Given the description of an element on the screen output the (x, y) to click on. 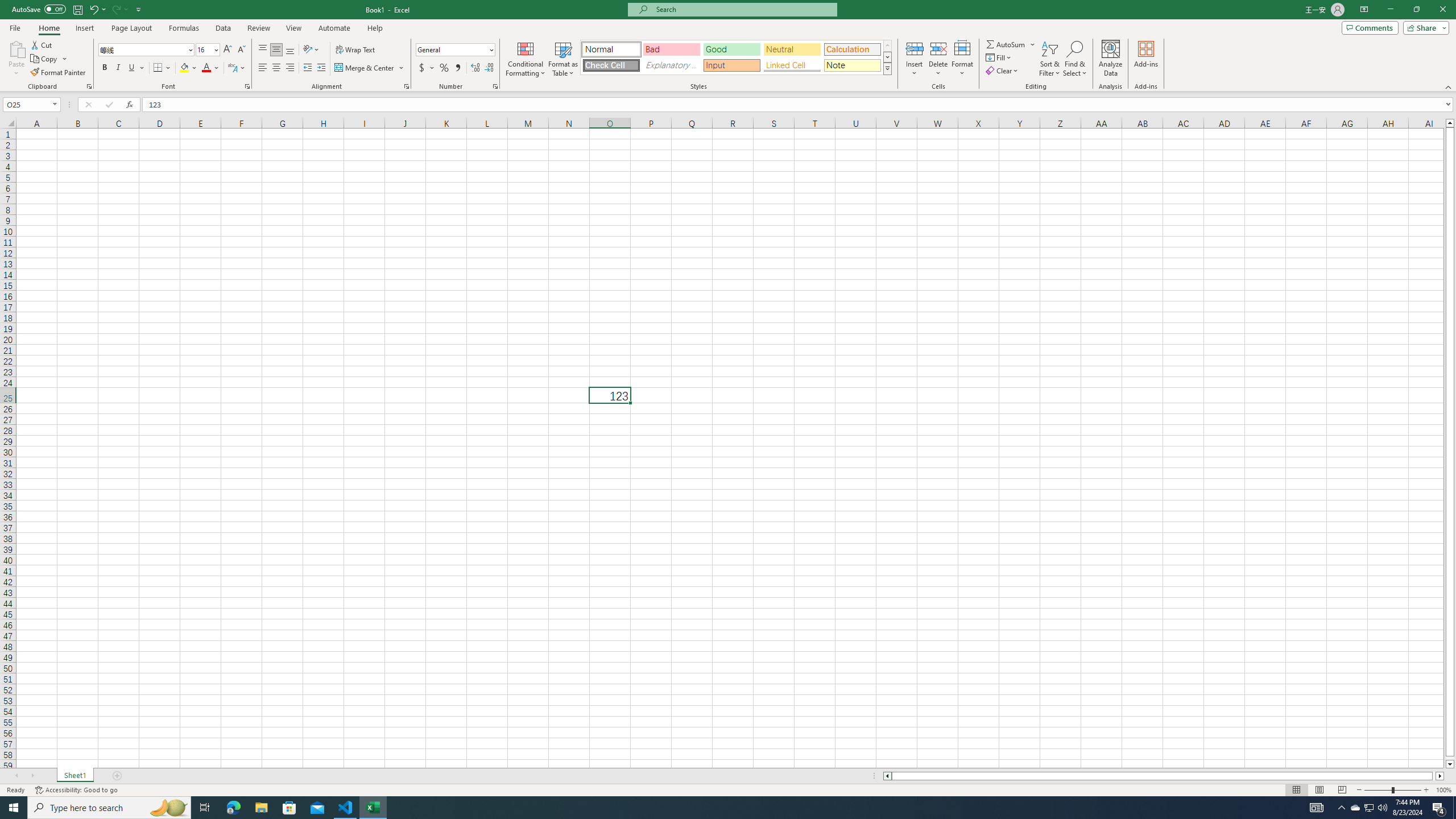
Insert Cells (914, 48)
Normal (1296, 790)
Delete Cells... (938, 48)
AutoSave (38, 9)
Bottom Align (290, 49)
Fill Color (188, 67)
Formulas (184, 28)
Clear (1003, 69)
Increase Decimal (474, 67)
Show Phonetic Field (231, 67)
Home (48, 28)
AutoSum (1011, 44)
Microsoft search (742, 9)
Input (731, 65)
